Given the description of an element on the screen output the (x, y) to click on. 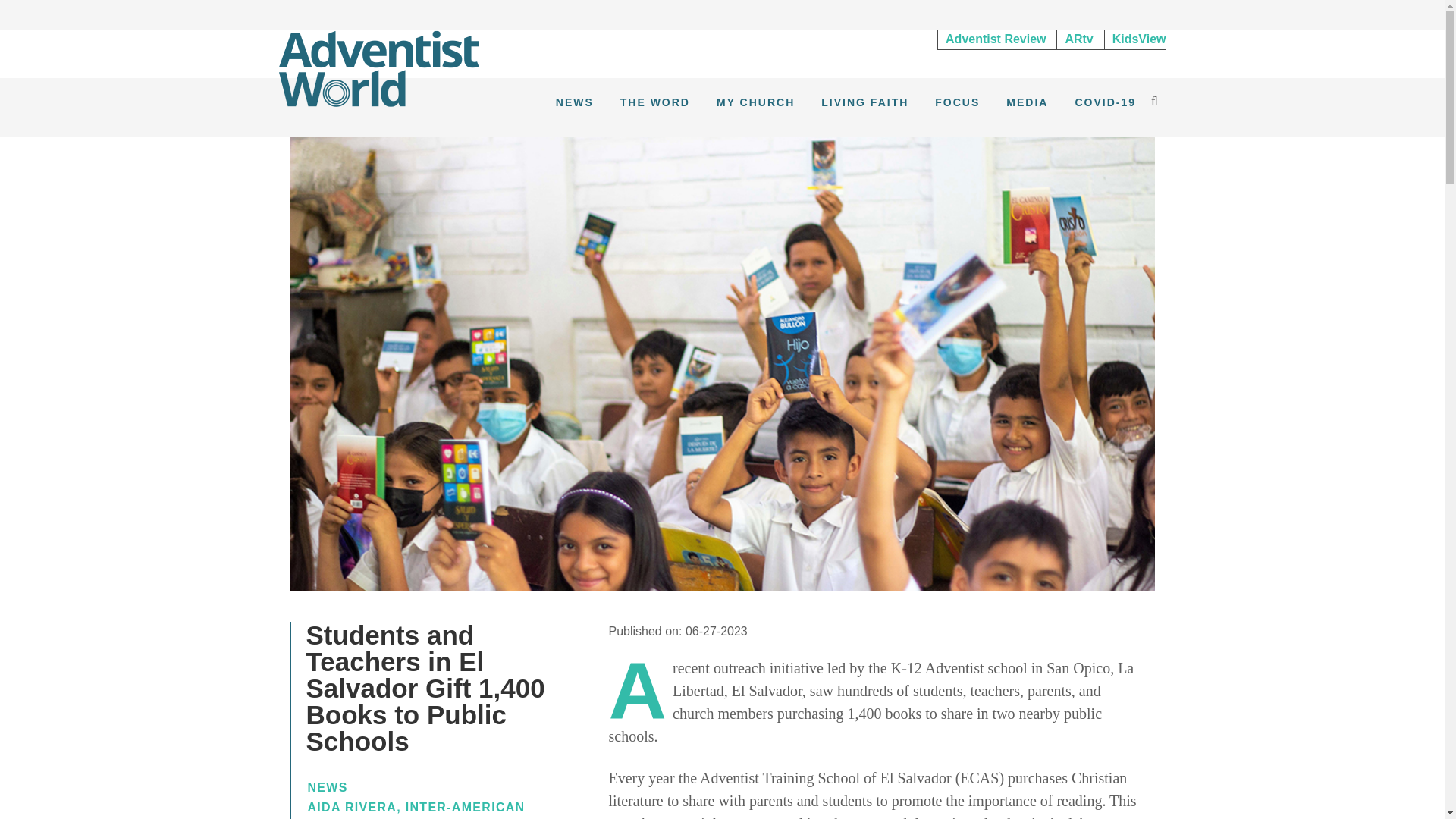
ARtv (1078, 39)
COVID-19 (1104, 101)
MY CHURCH (755, 101)
FOCUS (957, 101)
THE WORD (654, 101)
KidsView (1135, 39)
To bind together the Adventist people. (379, 67)
MEDIA (1026, 101)
NEWS (327, 787)
LIVING FAITH (864, 101)
Adventist Review (994, 39)
AIDA RIVERA, INTER-AMERICAN DIVISION NEWS (416, 809)
NEWS (574, 101)
